Given the description of an element on the screen output the (x, y) to click on. 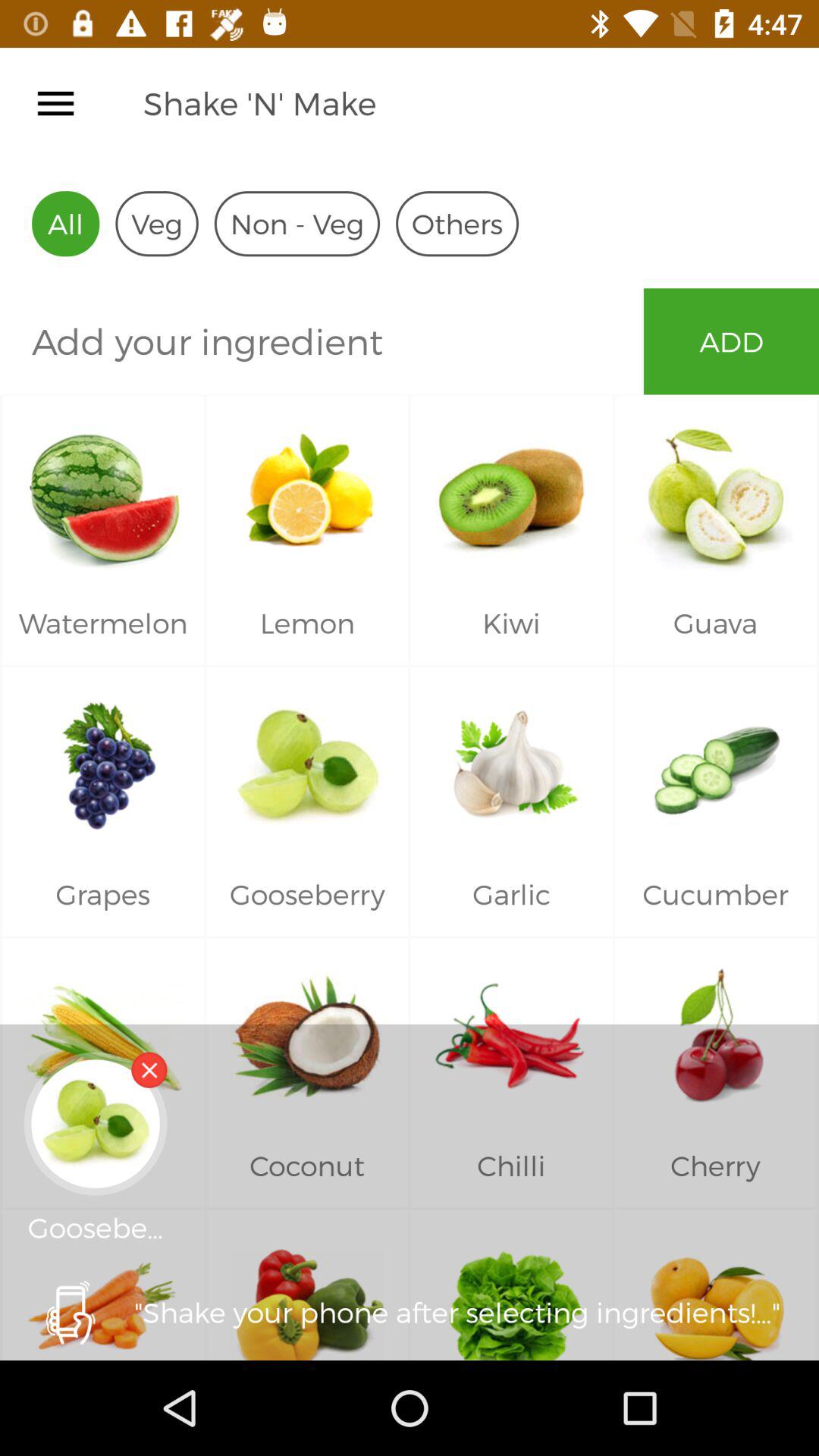
select ingredient (321, 341)
